Given the description of an element on the screen output the (x, y) to click on. 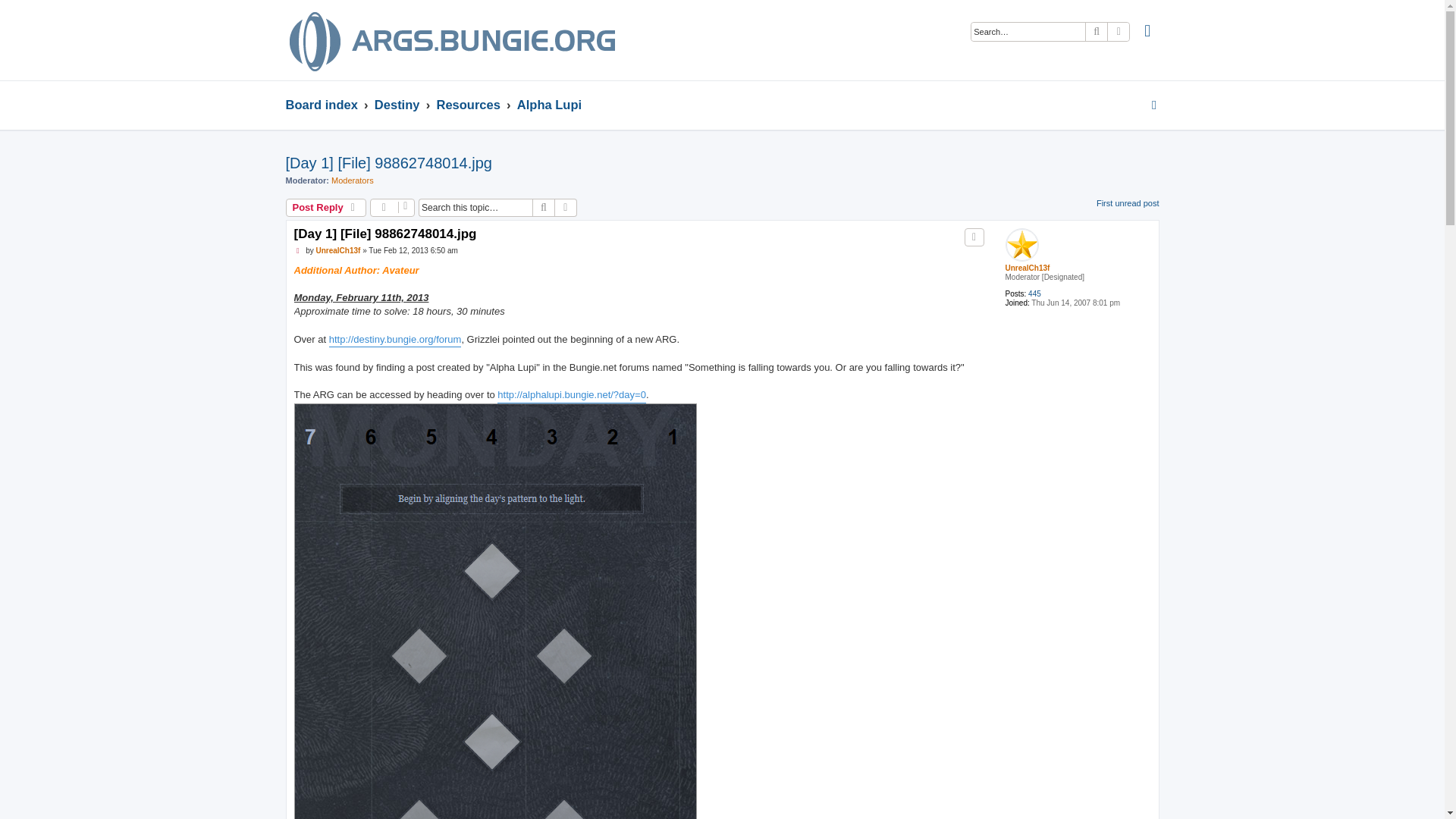
Advanced search (1118, 31)
Search for keywords (1027, 31)
Search (543, 208)
UnrealCh13f (1027, 267)
Search (1096, 31)
445 (1034, 293)
Topic tools (391, 208)
Reply with quote (973, 237)
Advanced search (565, 208)
Board index (320, 103)
Destiny (397, 103)
Resources (467, 103)
UnrealCh13f (337, 250)
Moderators (352, 180)
Quote (973, 237)
